Given the description of an element on the screen output the (x, y) to click on. 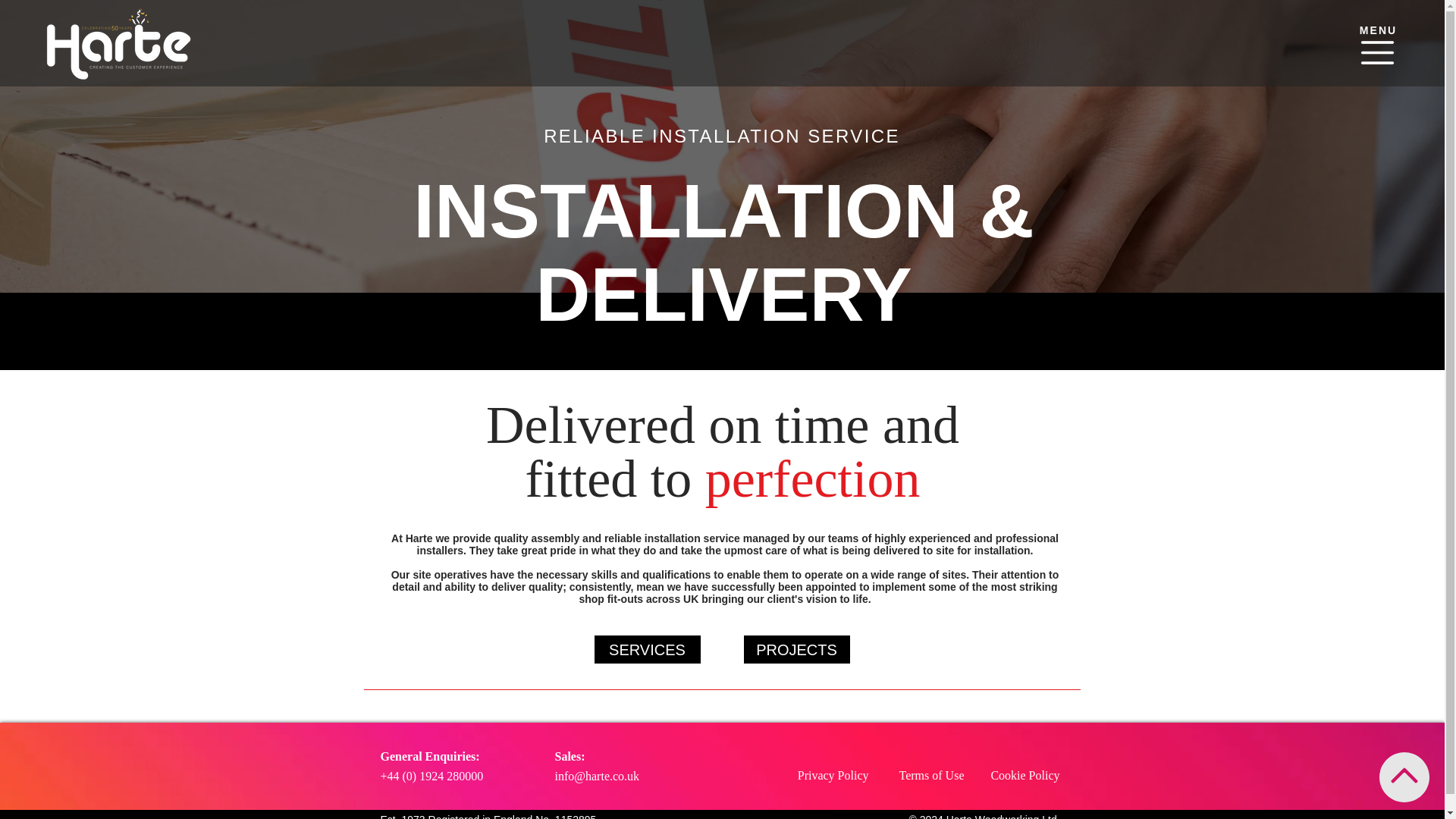
MENU (1378, 30)
Cookie Policy (1024, 775)
Privacy Policy (833, 775)
Terms of Use (931, 775)
SERVICES (647, 649)
PROJECTS (795, 649)
